Given the description of an element on the screen output the (x, y) to click on. 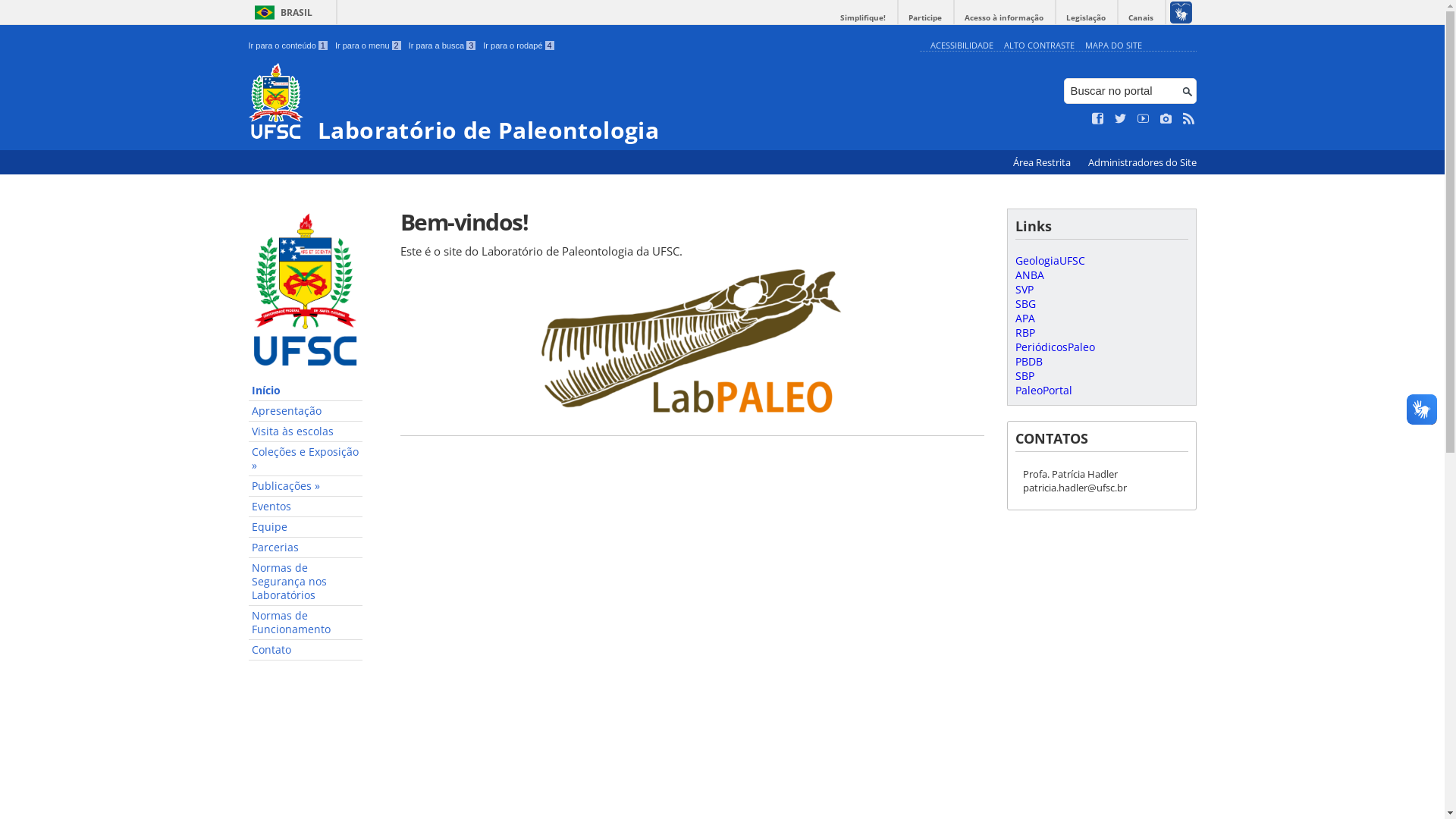
GeologiaUFSC Element type: text (1049, 260)
Contato Element type: text (305, 650)
SBP Element type: text (1023, 375)
BRASIL Element type: text (280, 12)
Equipe Element type: text (305, 527)
APA Element type: text (1024, 317)
ACESSIBILIDADE Element type: text (960, 44)
PaleoPortal Element type: text (1042, 389)
Bem-vindos! Element type: text (692, 221)
Participe Element type: text (924, 18)
Parcerias Element type: text (305, 547)
PBDB Element type: text (1027, 361)
Ir para o menu 2 Element type: text (368, 45)
Eventos Element type: text (305, 506)
ALTO CONTRASTE Element type: text (1039, 44)
Curta no Facebook Element type: hover (1098, 118)
RBP Element type: text (1024, 332)
Veja no Instagram Element type: hover (1166, 118)
Ir para a busca 3 Element type: text (442, 45)
Simplifique! Element type: text (862, 18)
Normas de Funcionamento Element type: text (305, 622)
ANBA Element type: text (1028, 274)
Canais Element type: text (1140, 18)
SVP Element type: text (1023, 289)
MAPA DO SITE Element type: text (1112, 44)
SBG Element type: text (1024, 303)
Administradores do Site Element type: text (1141, 162)
Siga no Twitter Element type: hover (1120, 118)
